Given the description of an element on the screen output the (x, y) to click on. 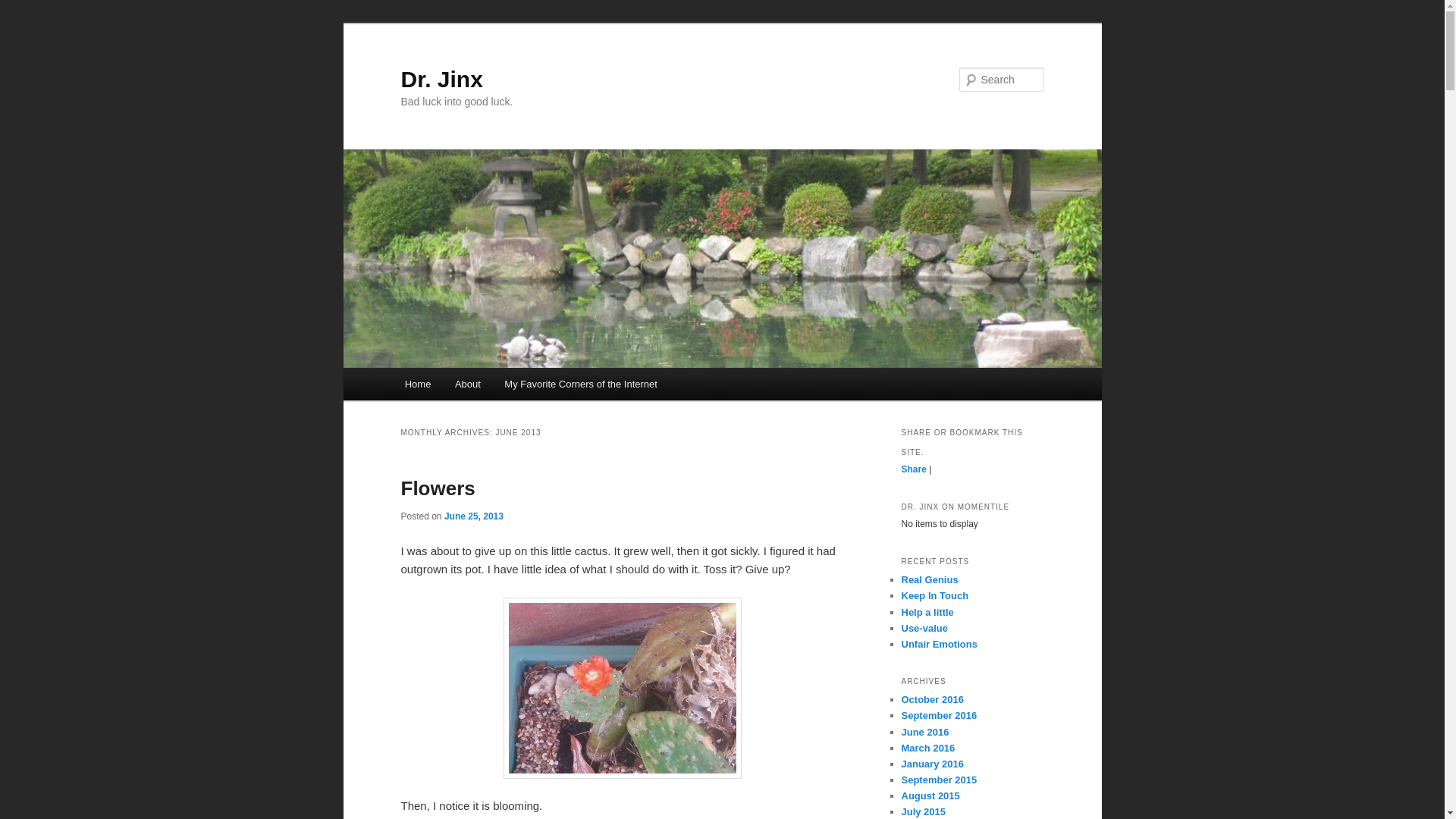
About (467, 383)
Home (417, 383)
June 25, 2013 (473, 516)
Search (24, 8)
Dr. Jinx (440, 78)
My Favorite Corners of the Internet (581, 383)
Flowers (437, 487)
11:00 pm (473, 516)
